Given the description of an element on the screen output the (x, y) to click on. 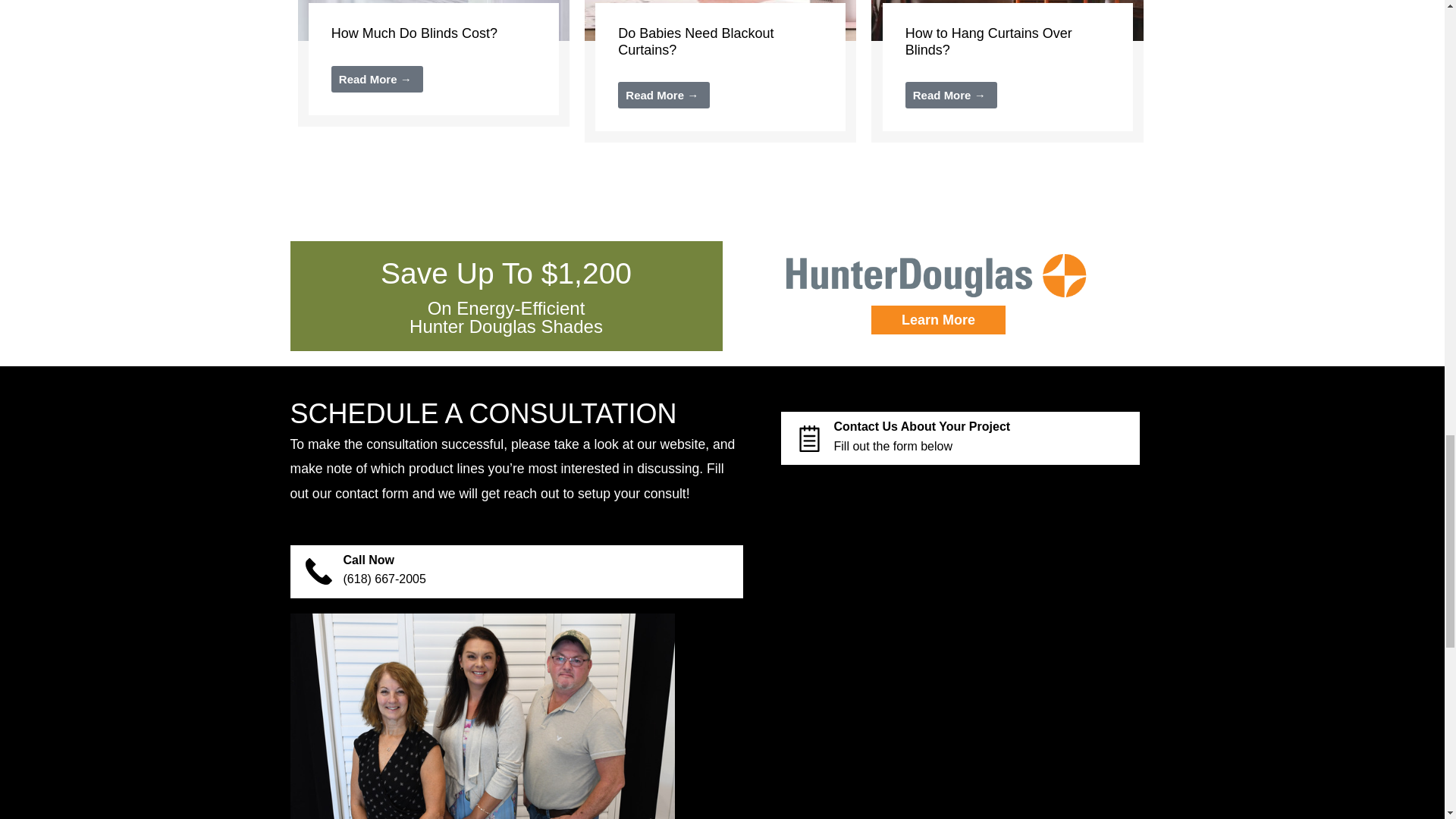
WEBSITE - Main Contact Form (960, 649)
